Given the description of an element on the screen output the (x, y) to click on. 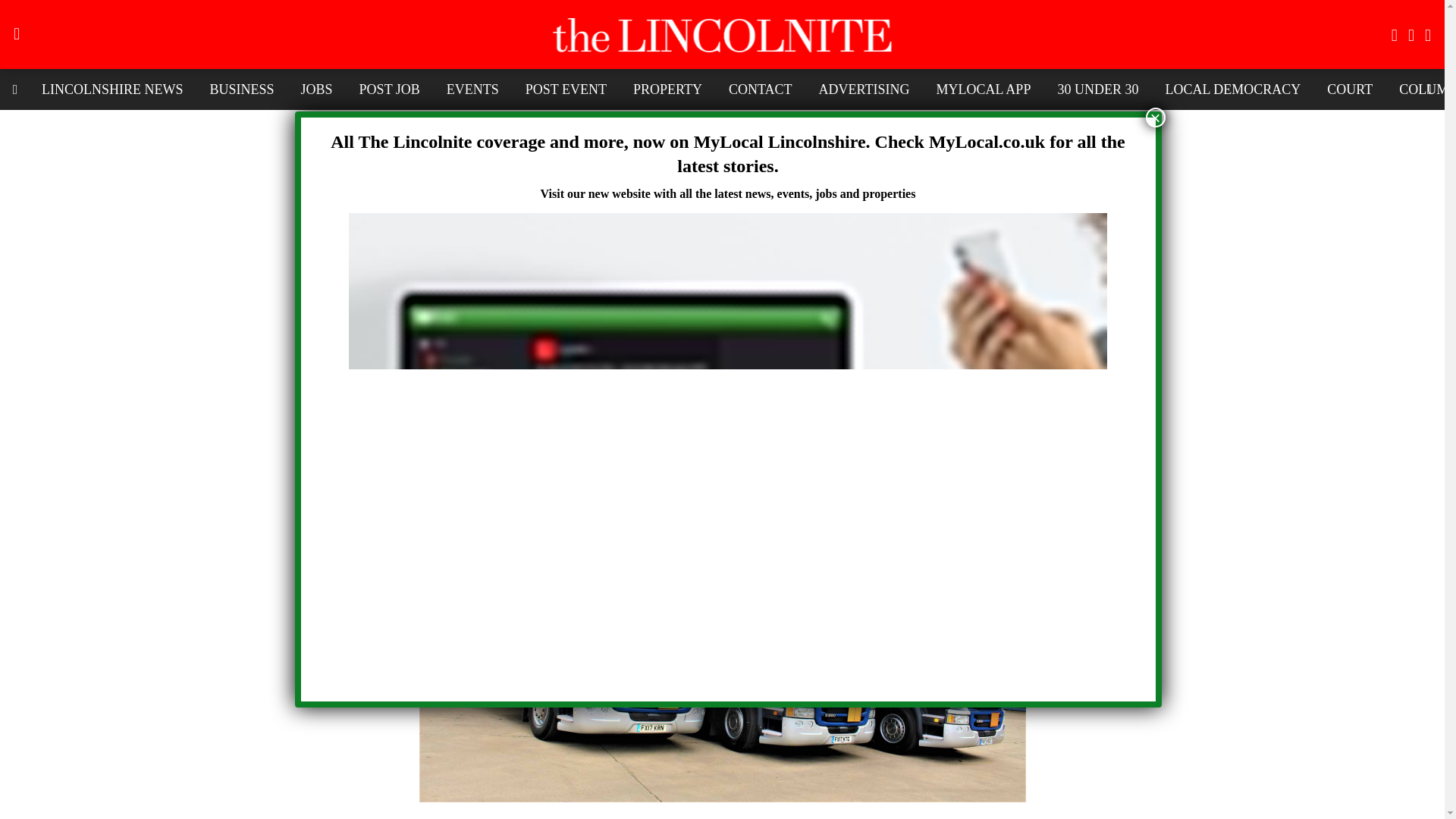
LOCAL DEMOCRACY (1232, 88)
PROPERTY (667, 88)
MYLOCAL APP (983, 88)
POST EVENT (565, 88)
COURT (1350, 88)
ADVERTISING (864, 88)
POST JOB (388, 88)
30 UNDER 30 (1097, 88)
EVENTS (473, 88)
